Given the description of an element on the screen output the (x, y) to click on. 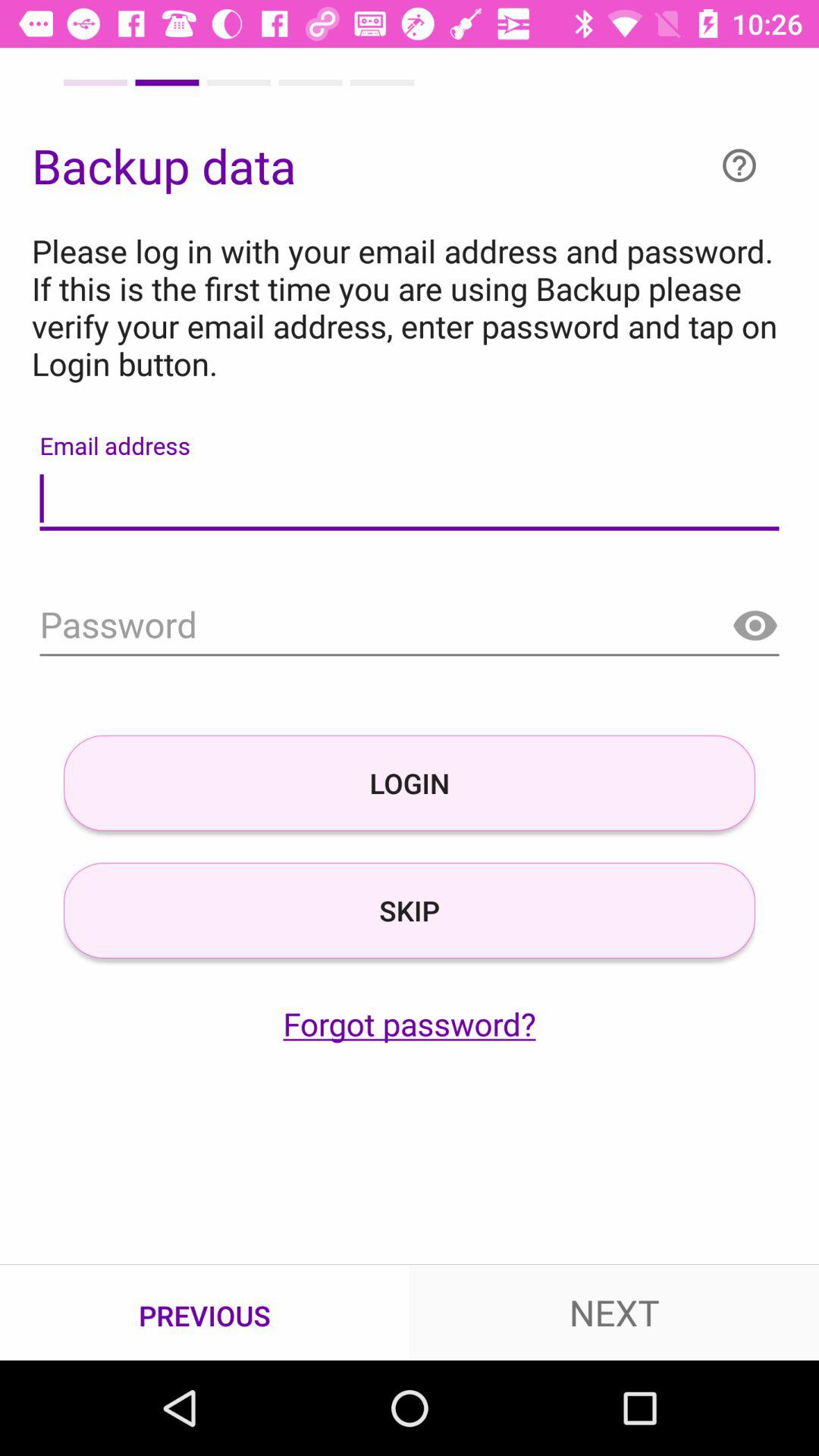
enter e-mail address (409, 499)
